Given the description of an element on the screen output the (x, y) to click on. 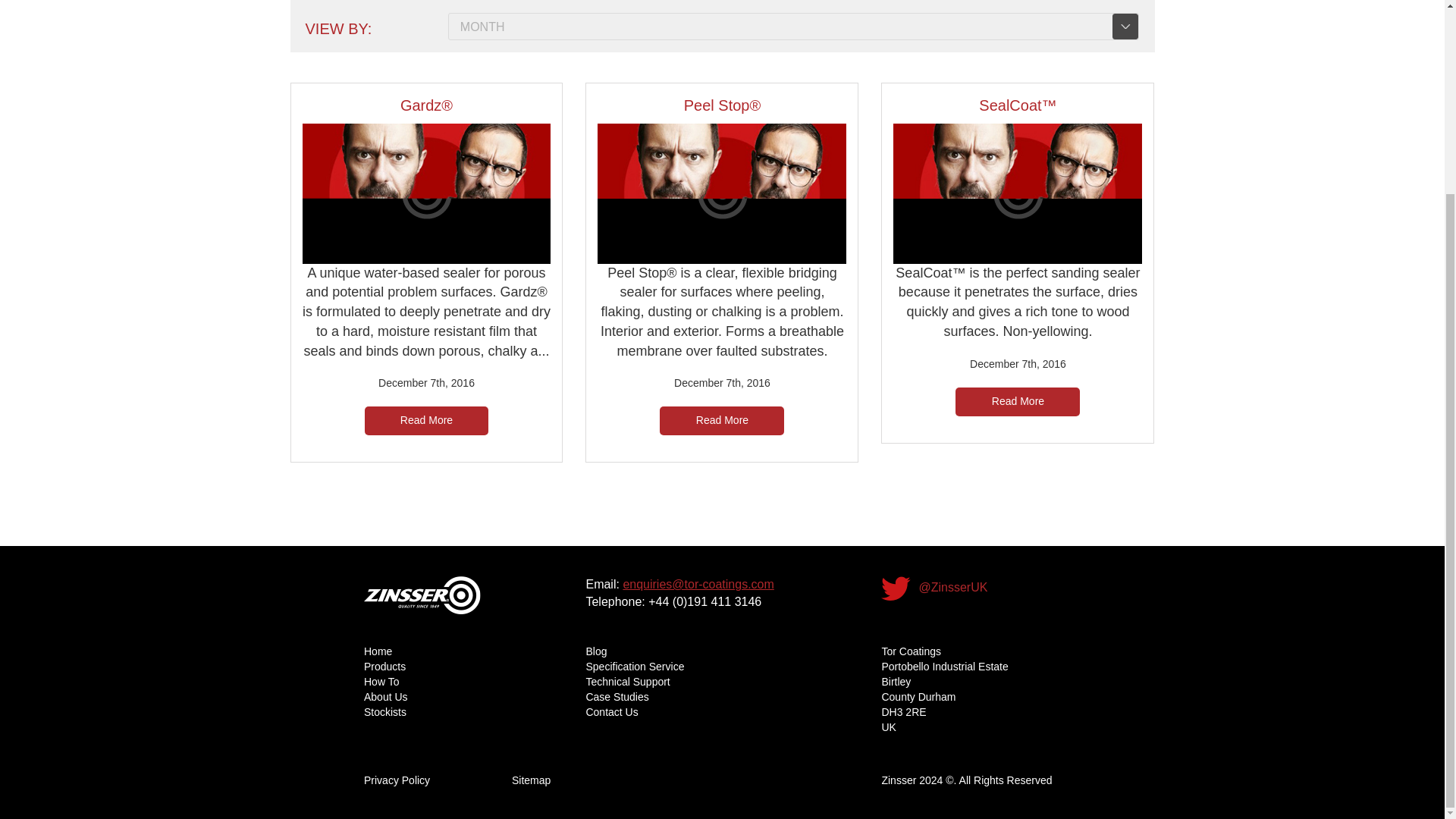
Read More (425, 419)
Read More (721, 420)
Read More (1017, 401)
Read More (425, 420)
Read More (721, 419)
Read More (1017, 400)
